Given the description of an element on the screen output the (x, y) to click on. 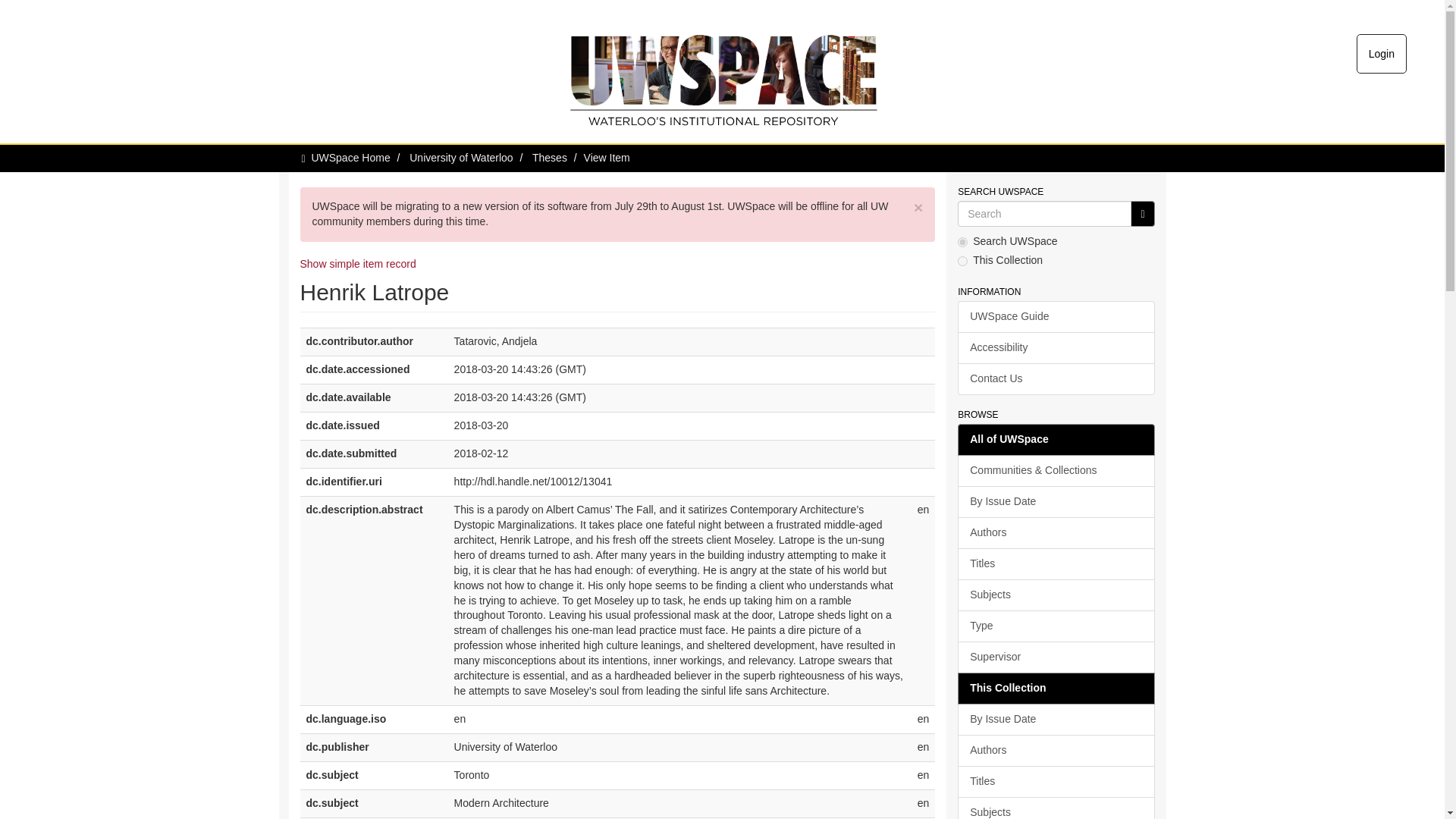
By Issue Date (1056, 501)
Login (1381, 53)
UWSpace Home (350, 157)
Search UWSpace (1044, 213)
Contact Us (1056, 378)
untranslated (1142, 213)
Titles (1056, 563)
This Collection (1056, 688)
All of UWSpace (1056, 439)
Accessibility (1056, 347)
Show simple item record (357, 263)
By Issue Date (1056, 719)
University of Waterloo (460, 157)
Theses (549, 157)
Subjects (1056, 594)
